Given the description of an element on the screen output the (x, y) to click on. 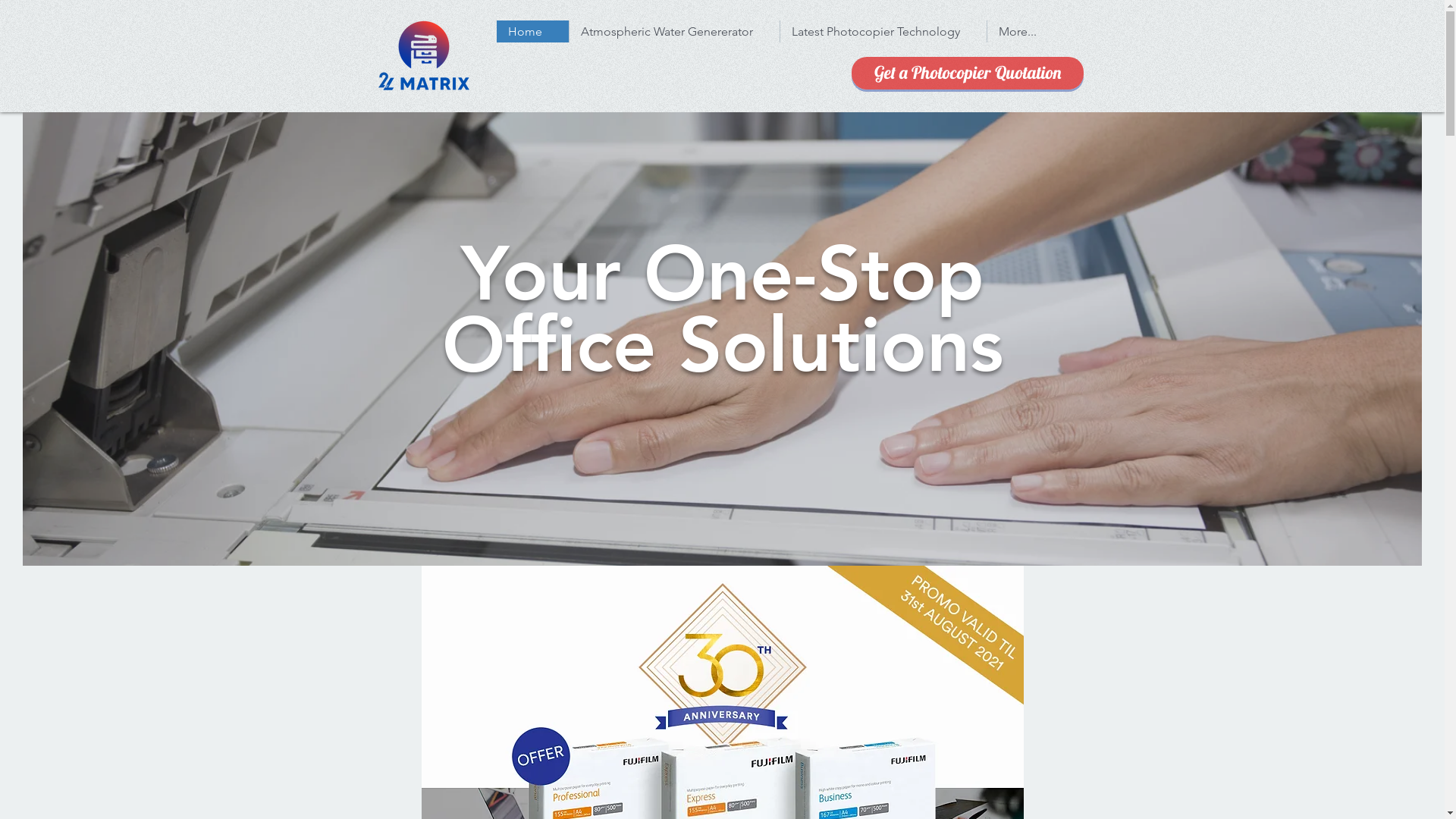
Atmospheric Water Genererator Element type: text (673, 31)
Get a Photocopier Quotation Element type: text (966, 72)
Home Element type: text (531, 31)
Latest Photocopier Technology Element type: text (882, 31)
